Given the description of an element on the screen output the (x, y) to click on. 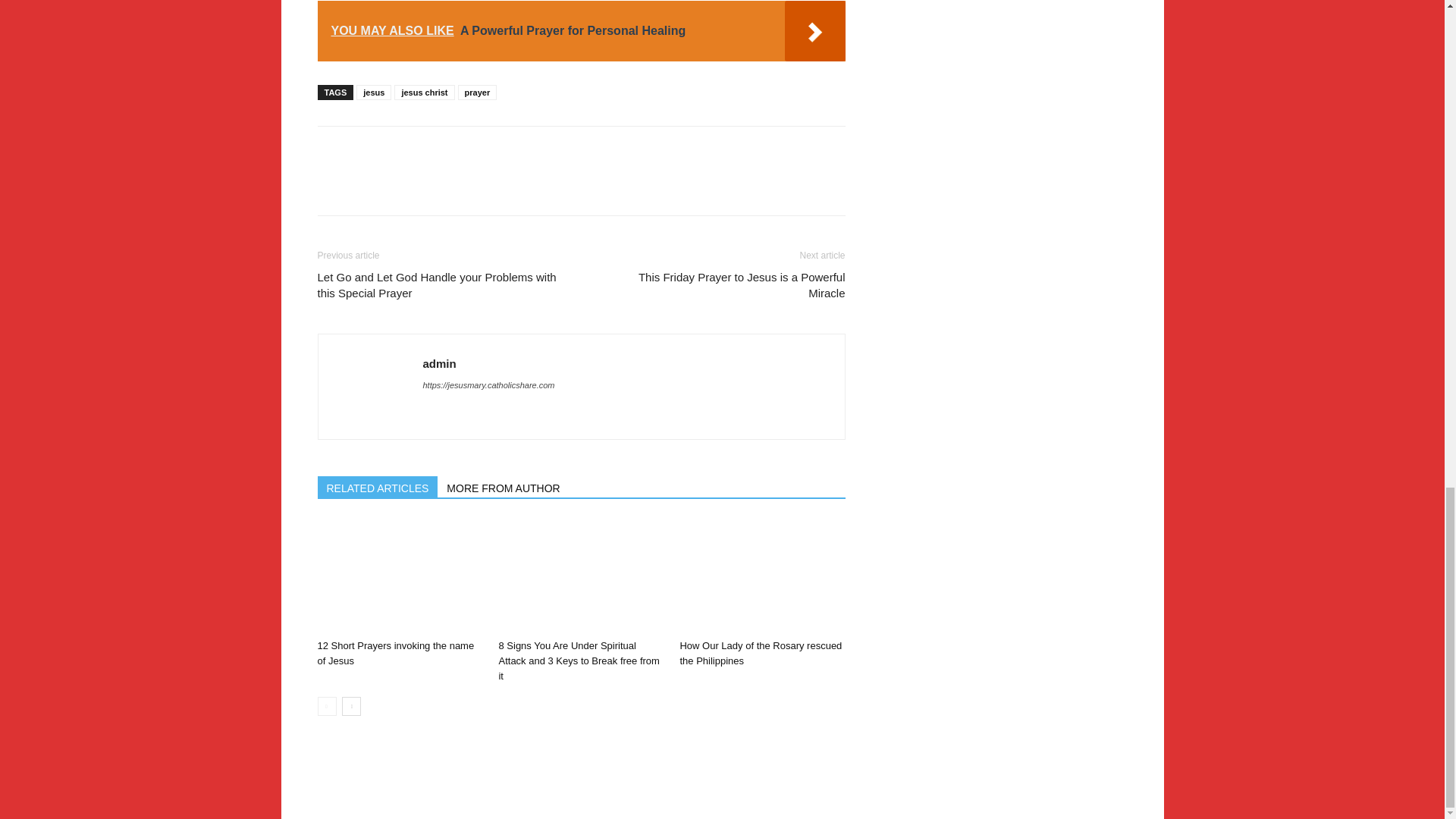
12 Short Prayers invoking the name of Jesus (395, 652)
prayer (477, 92)
YOU MAY ALSO LIKE  A Powerful Prayer for Personal Healing (580, 30)
12 Short Prayers invoking the name of Jesus (399, 576)
How Our Lady of the Rosary rescued the Philippines (760, 652)
jesus christ (424, 92)
jesus (373, 92)
How Our Lady of the Rosary rescued the Philippines (761, 576)
